Given the description of an element on the screen output the (x, y) to click on. 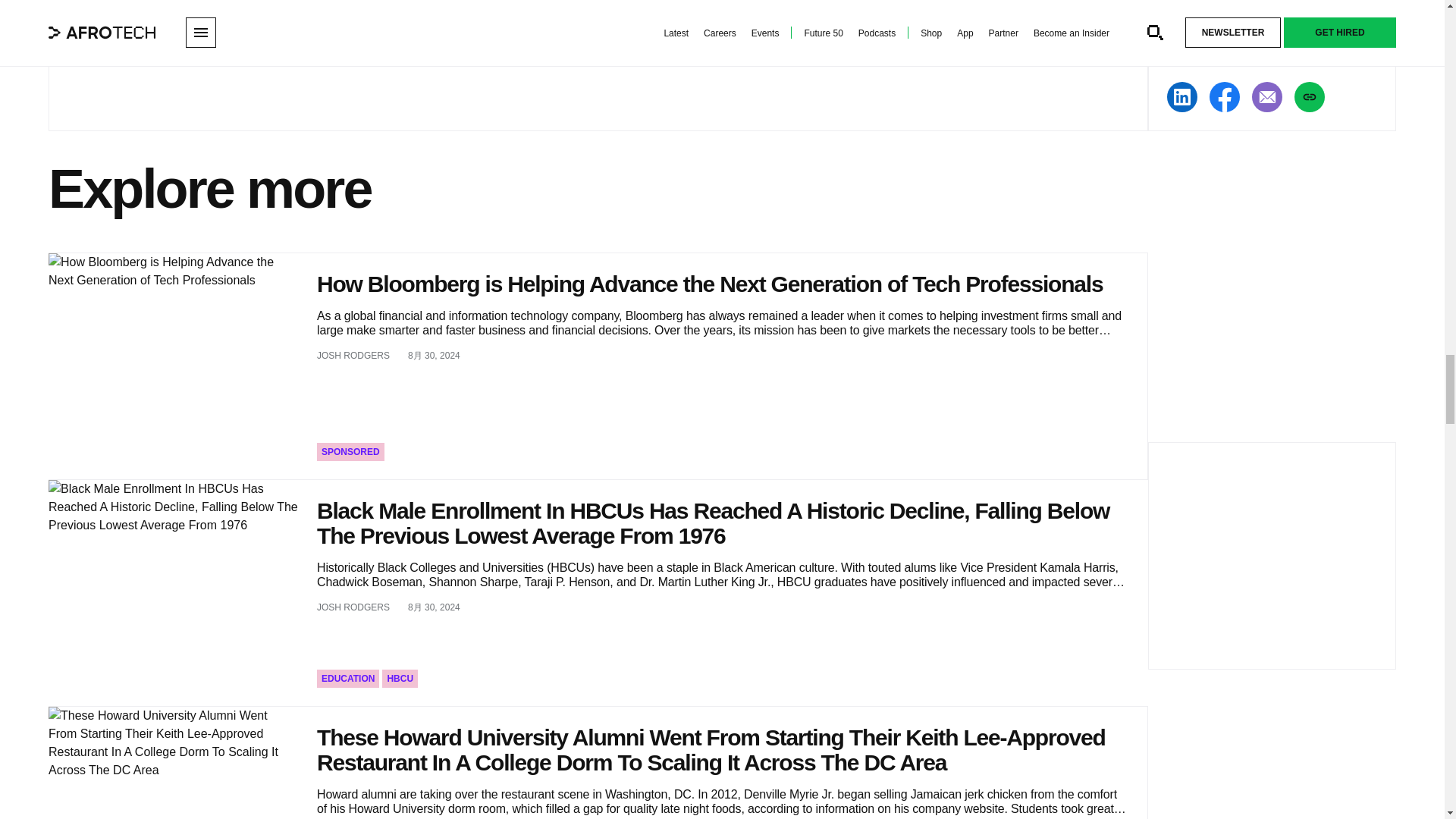
SPONSORED (350, 452)
